Given the description of an element on the screen output the (x, y) to click on. 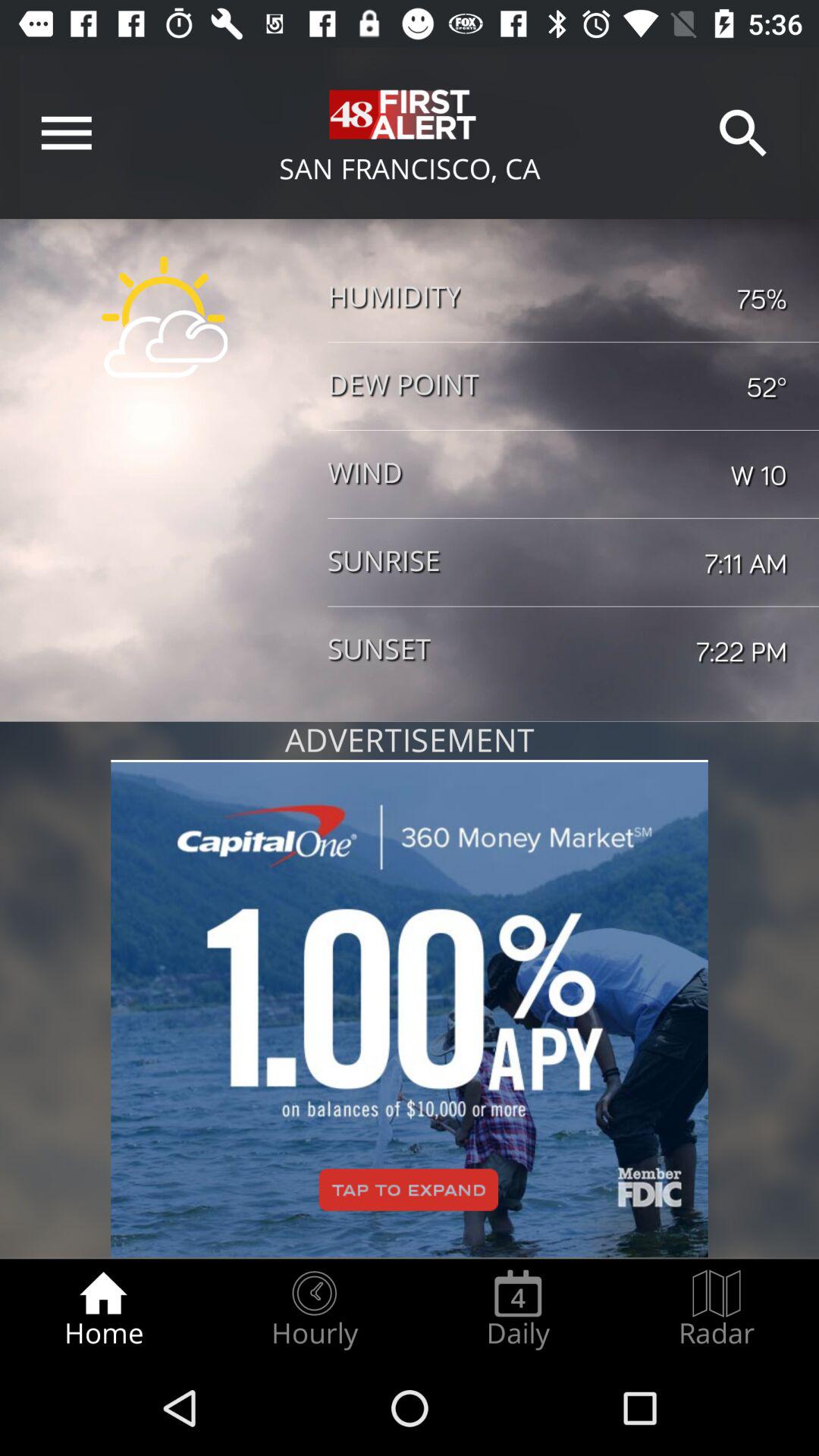
select icon to the right of daily item (716, 1309)
